Given the description of an element on the screen output the (x, y) to click on. 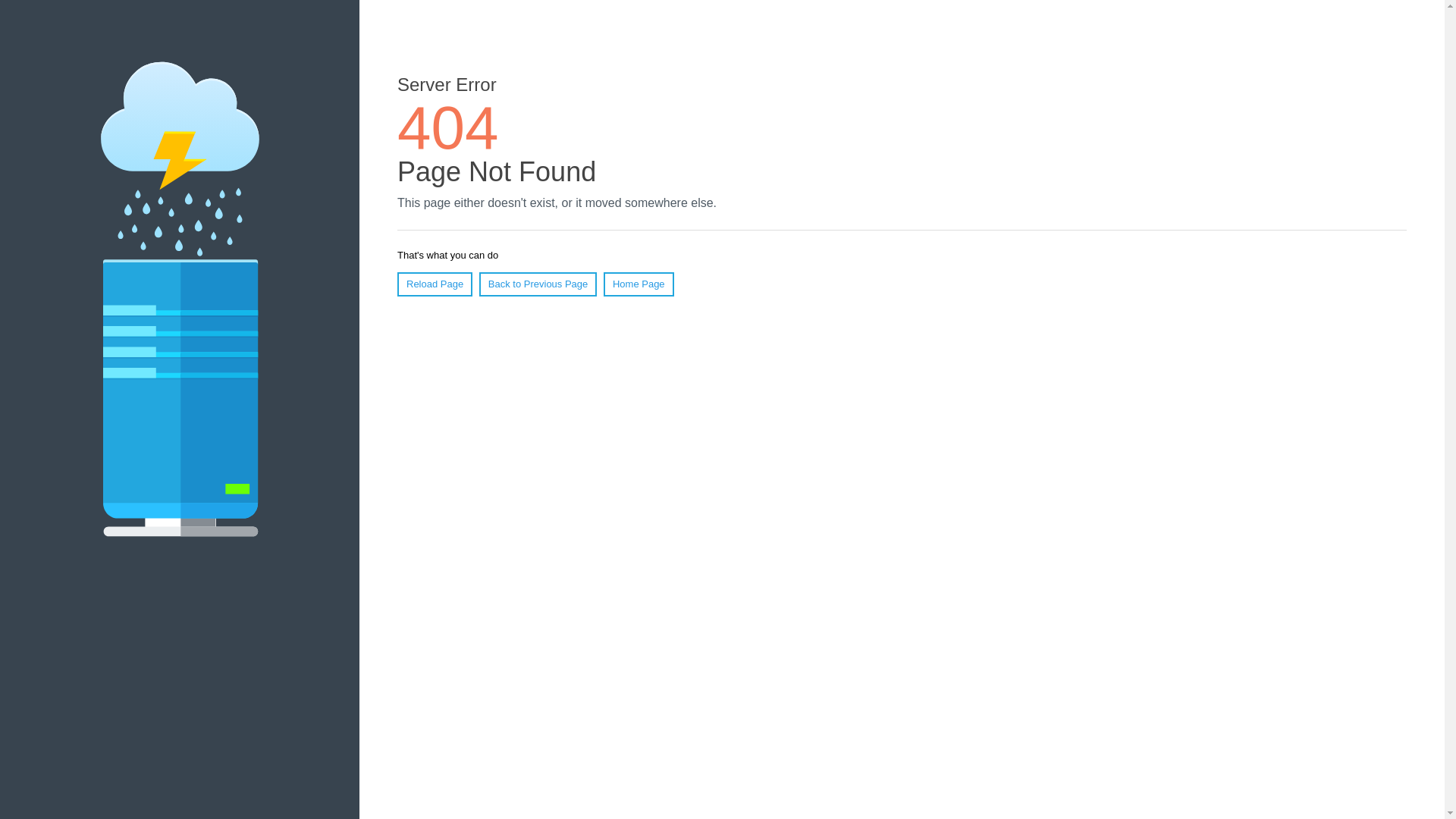
Home Page Element type: text (638, 284)
Back to Previous Page Element type: text (538, 284)
Reload Page Element type: text (434, 284)
